Given the description of an element on the screen output the (x, y) to click on. 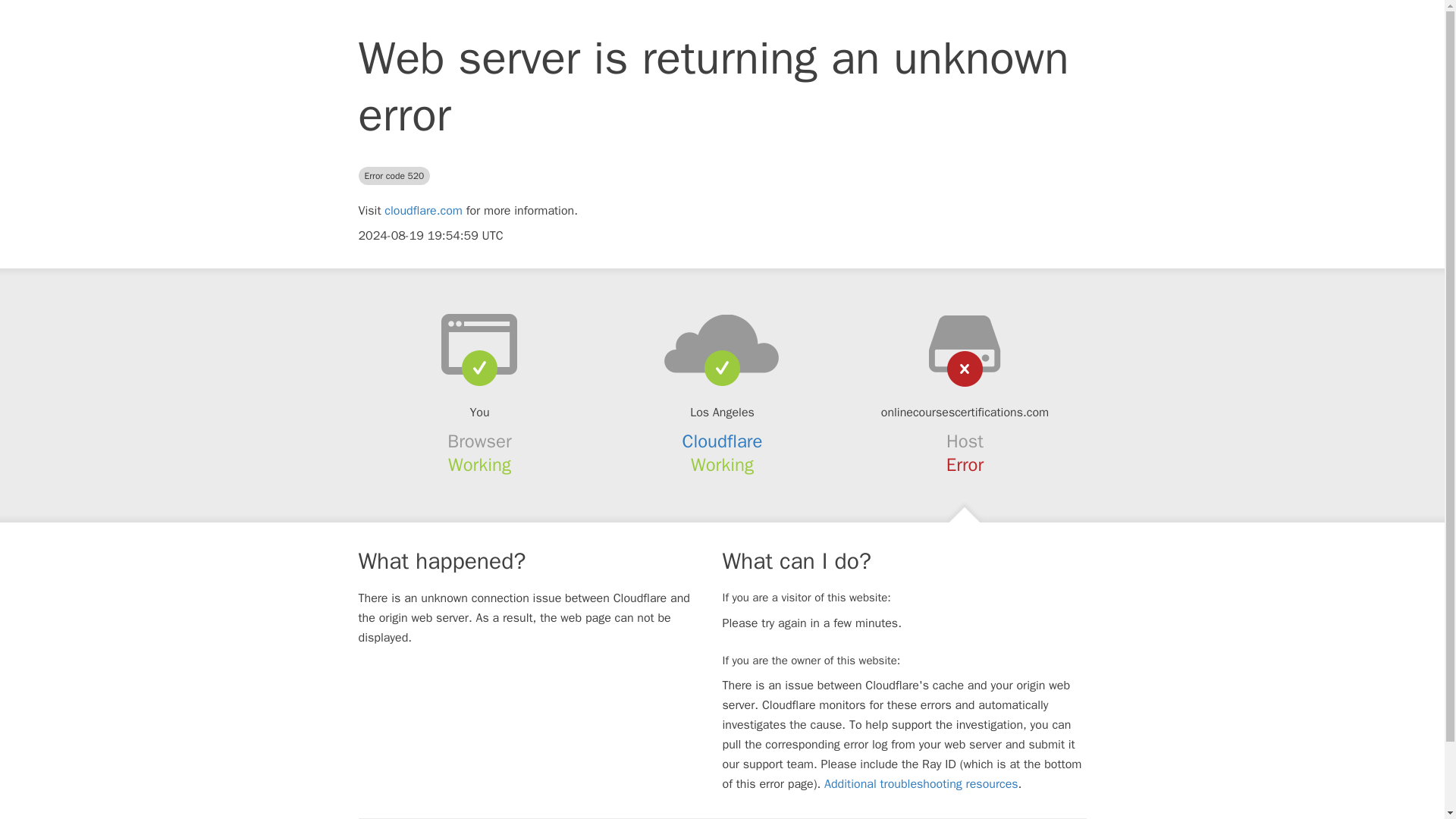
Cloudflare (722, 440)
Additional troubleshooting resources (920, 783)
cloudflare.com (423, 210)
